Given the description of an element on the screen output the (x, y) to click on. 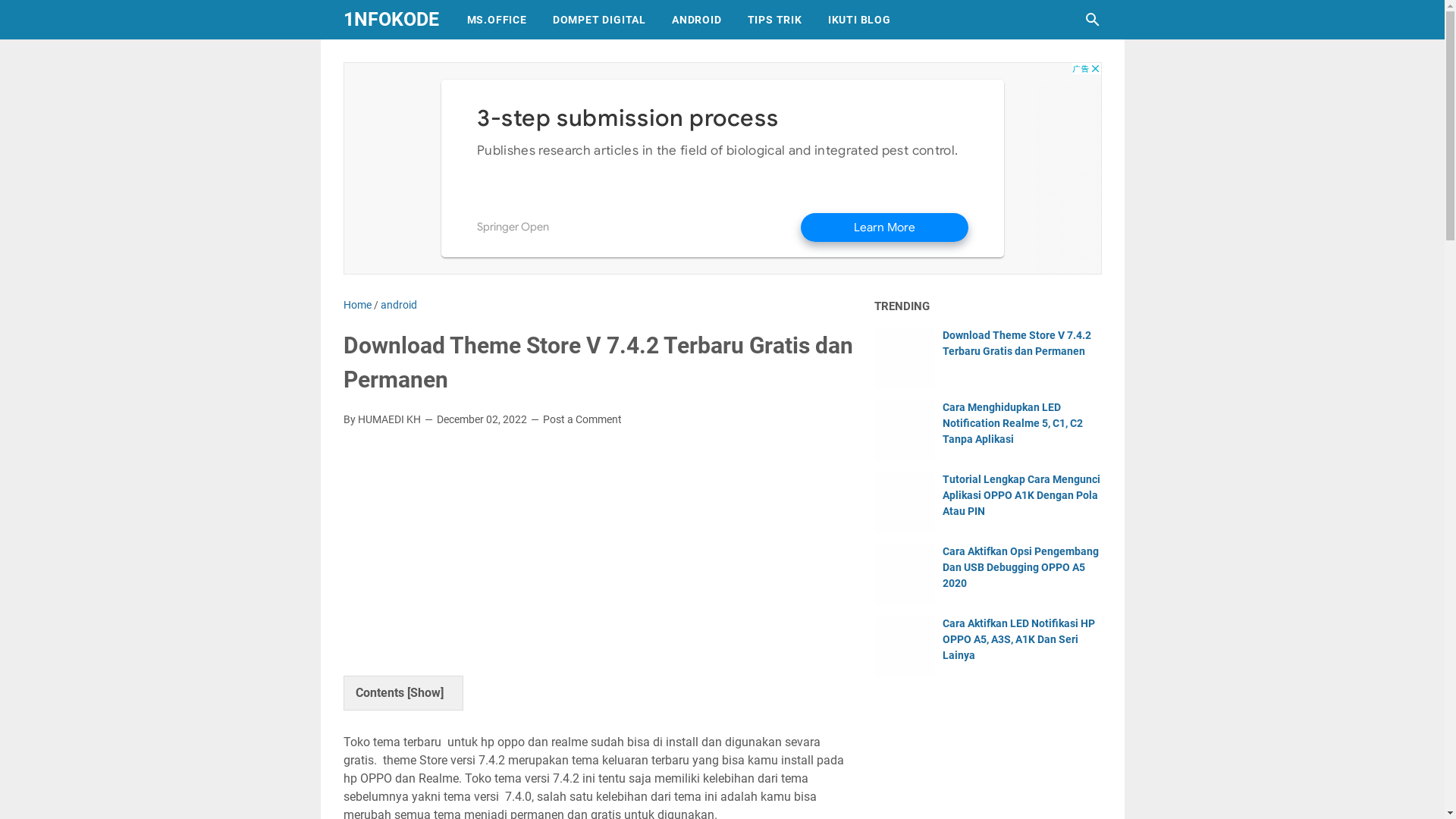
MS.OFFICE Element type: text (496, 19)
ANDROID Element type: text (696, 19)
IKUTI BLOG Element type: text (859, 19)
android Element type: text (398, 304)
Show Element type: text (424, 692)
Cara Aktifkan Opsi Pengembang Dan USB Debugging OPPO A5 2020 Element type: text (1019, 567)
1NFOKODE Element type: text (390, 19)
Home Element type: text (356, 304)
Advertisement Element type: hover (598, 551)
DOMPET DIGITAL Element type: text (598, 19)
Search this blog Element type: hover (1091, 19)
Post a Comment Element type: text (581, 419)
Download Theme Store V 7.4.2 Terbaru Gratis dan Permanen Element type: text (1015, 343)
Advertisement Element type: hover (721, 168)
TIPS TRIK Element type: text (774, 19)
